Given the description of an element on the screen output the (x, y) to click on. 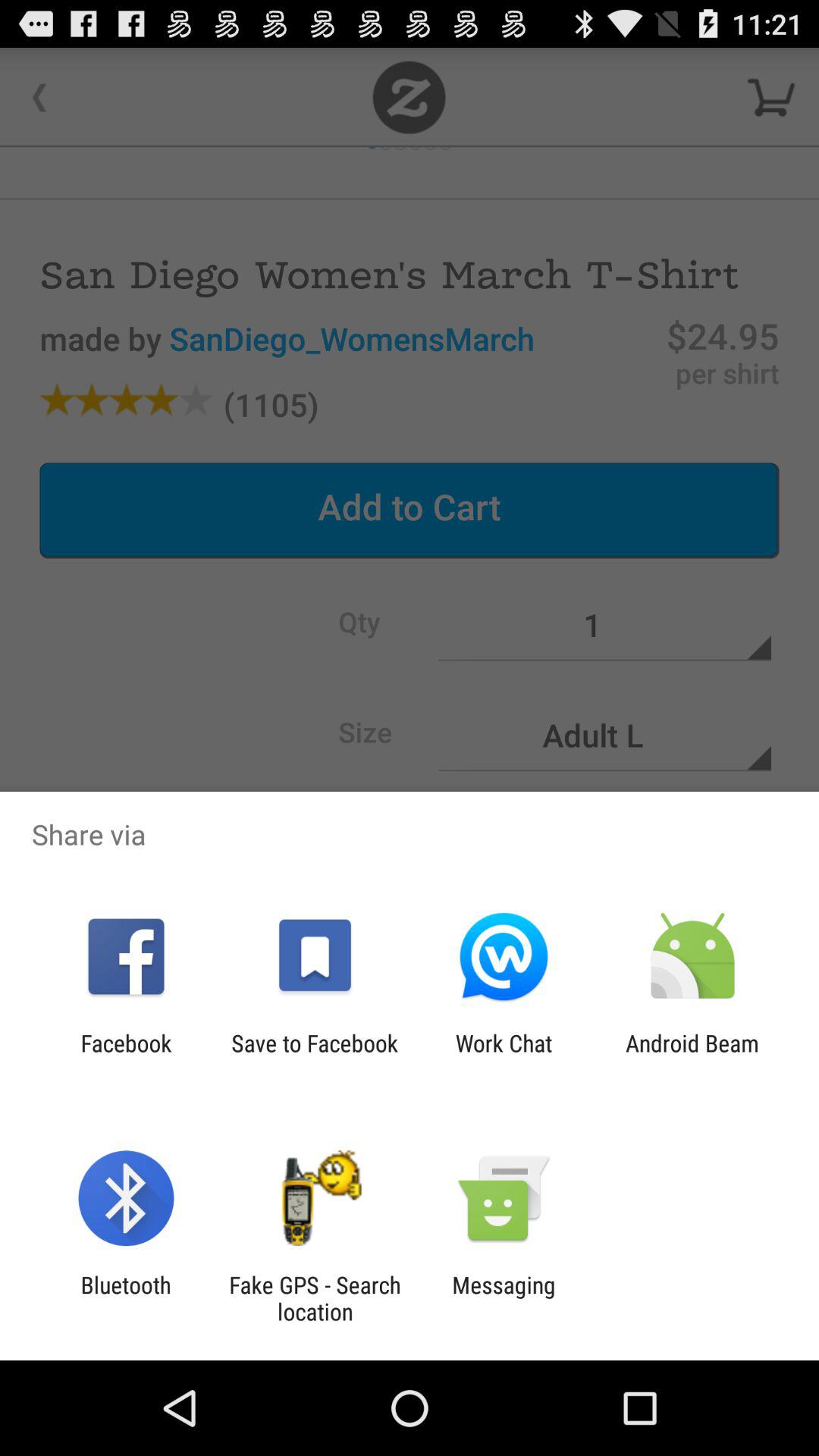
tap the fake gps search icon (314, 1298)
